Given the description of an element on the screen output the (x, y) to click on. 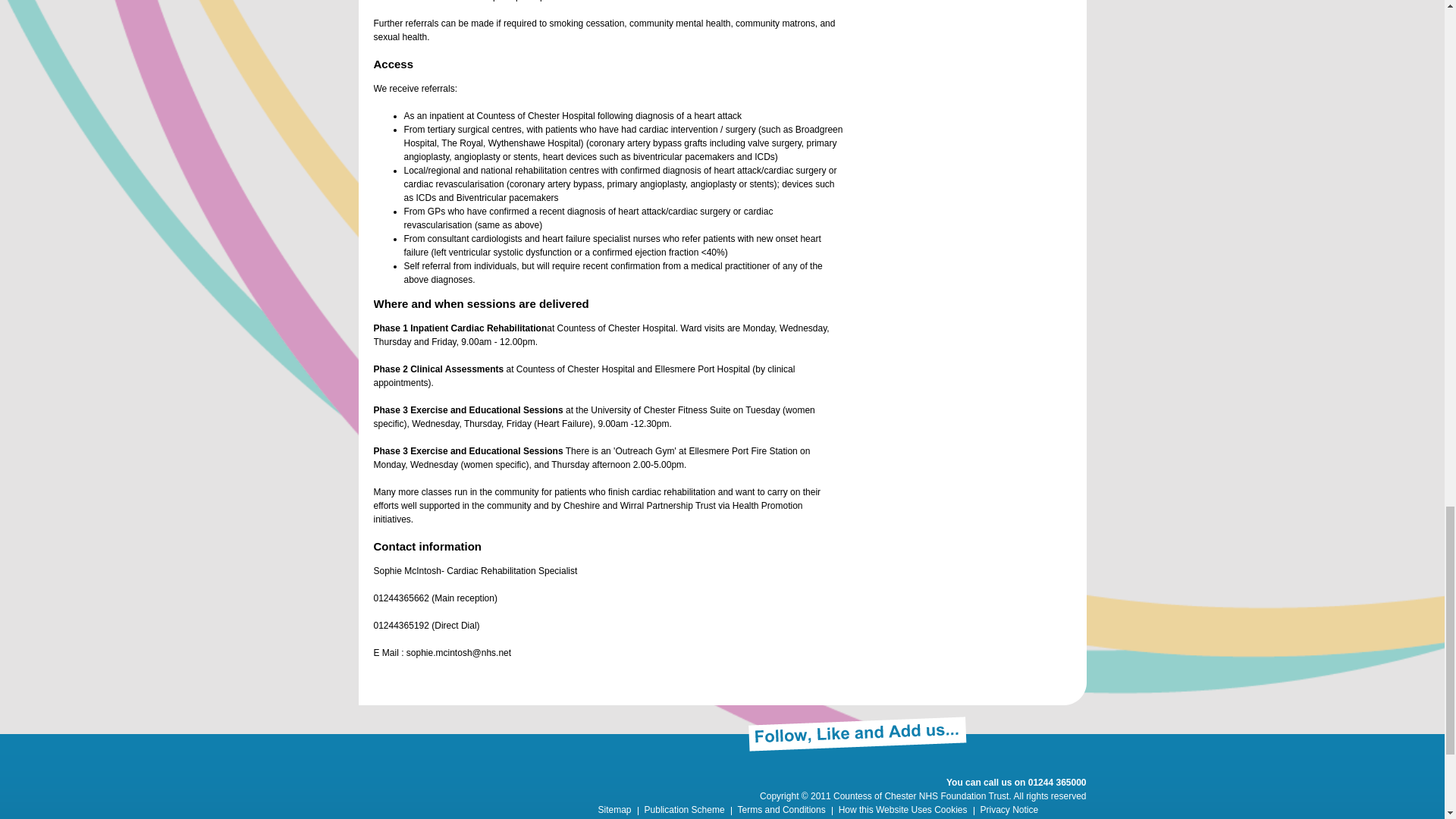
Privacy Notice (1008, 808)
YouTube (1016, 728)
Go to Twitter page (1044, 728)
How this Website Uses Cookies (903, 808)
Accessibility Statement (643, 818)
Publication Scheme (685, 808)
Twitter (1044, 728)
Go to YouTube page (1016, 728)
Go to RSS page (1073, 728)
Sitemap (613, 808)
